Given the description of an element on the screen output the (x, y) to click on. 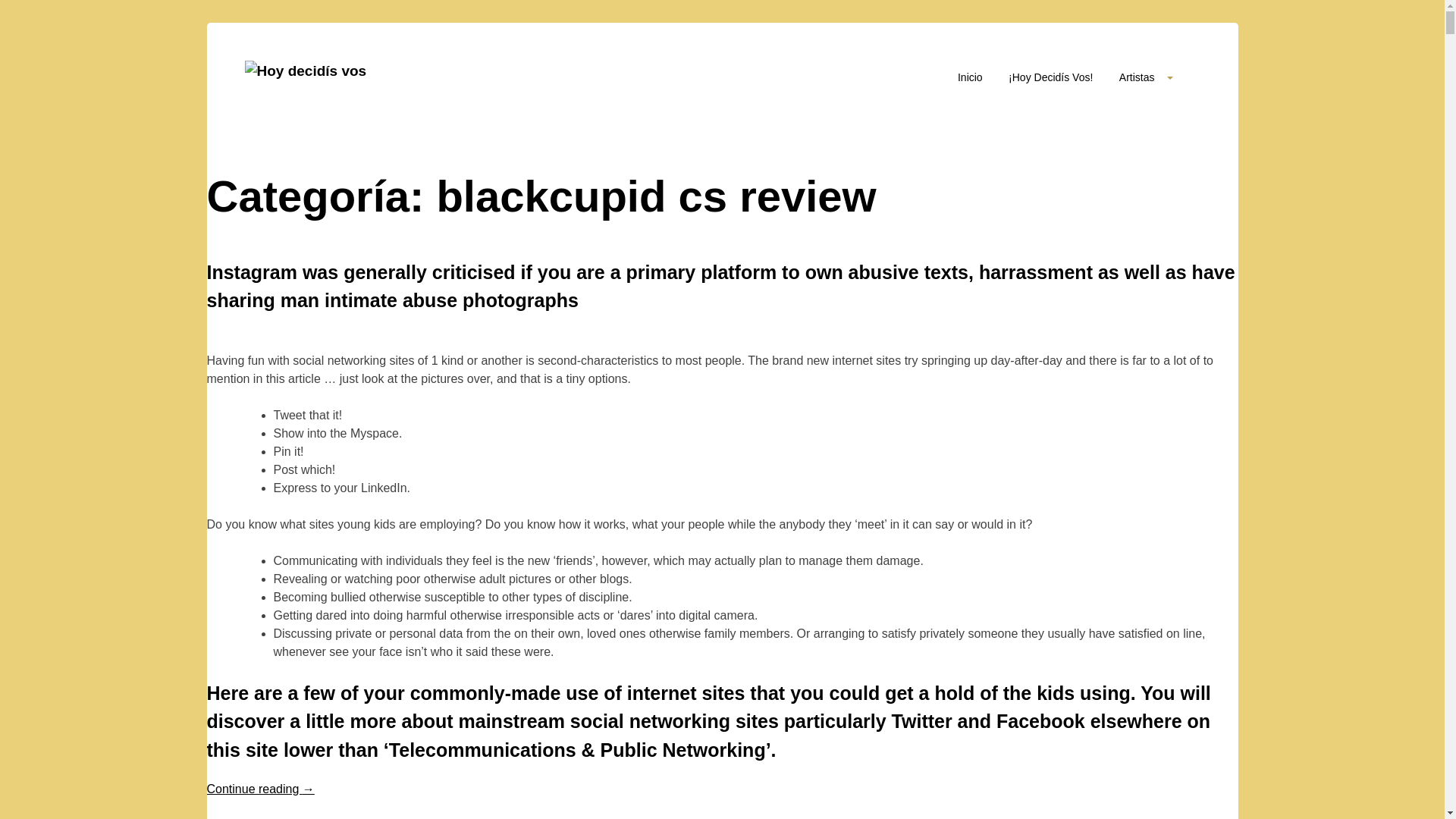
Artistas (1146, 77)
Inicio (970, 81)
